Given the description of an element on the screen output the (x, y) to click on. 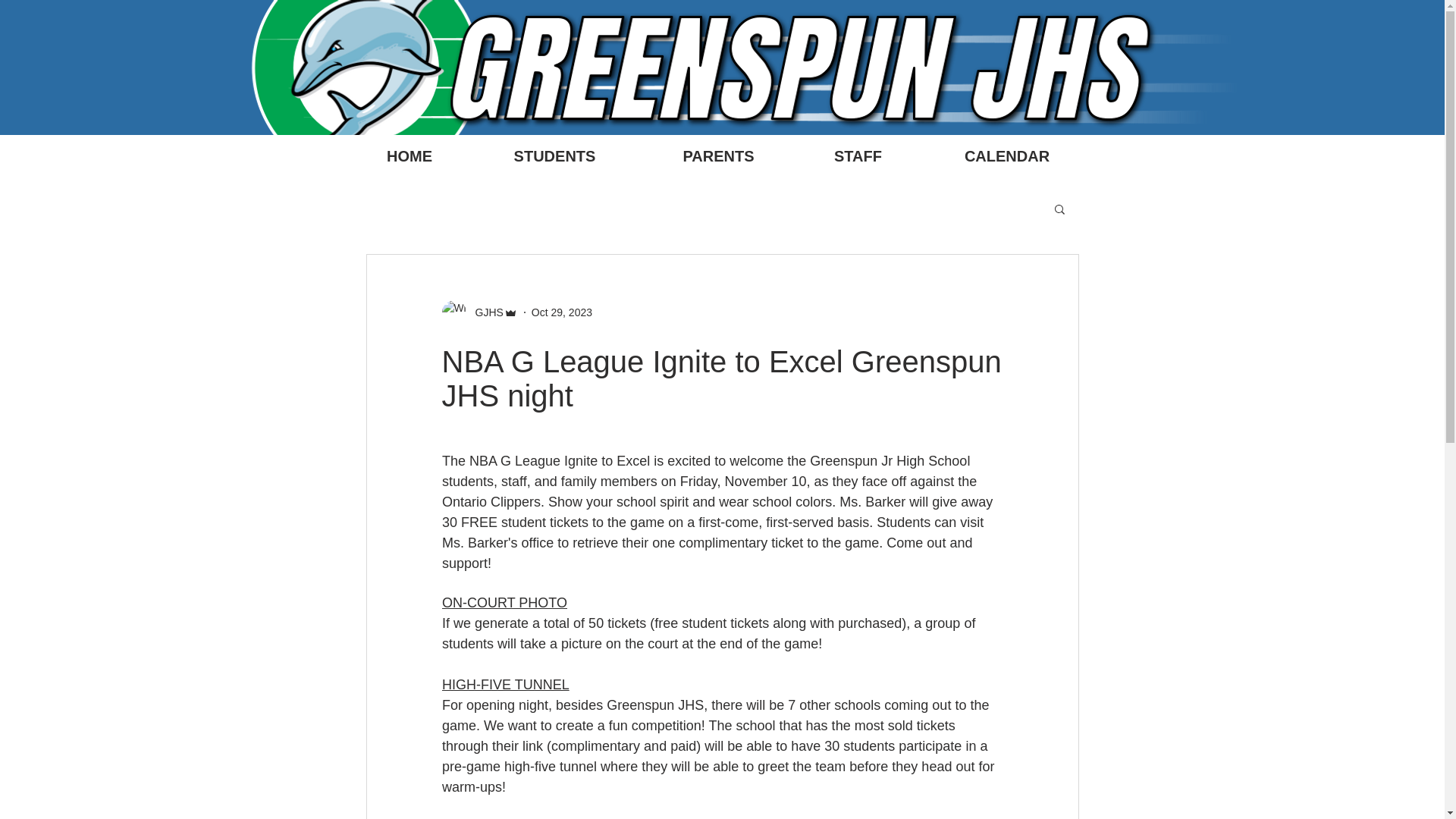
HOME (408, 156)
Oct 29, 2023 (561, 312)
GJHS (483, 312)
